Given the description of an element on the screen output the (x, y) to click on. 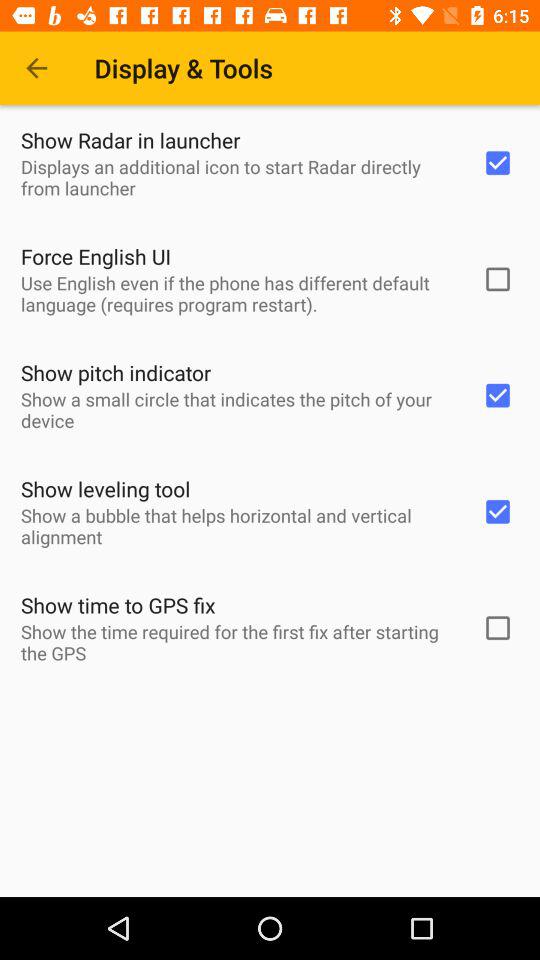
swipe until the use english even icon (238, 293)
